Given the description of an element on the screen output the (x, y) to click on. 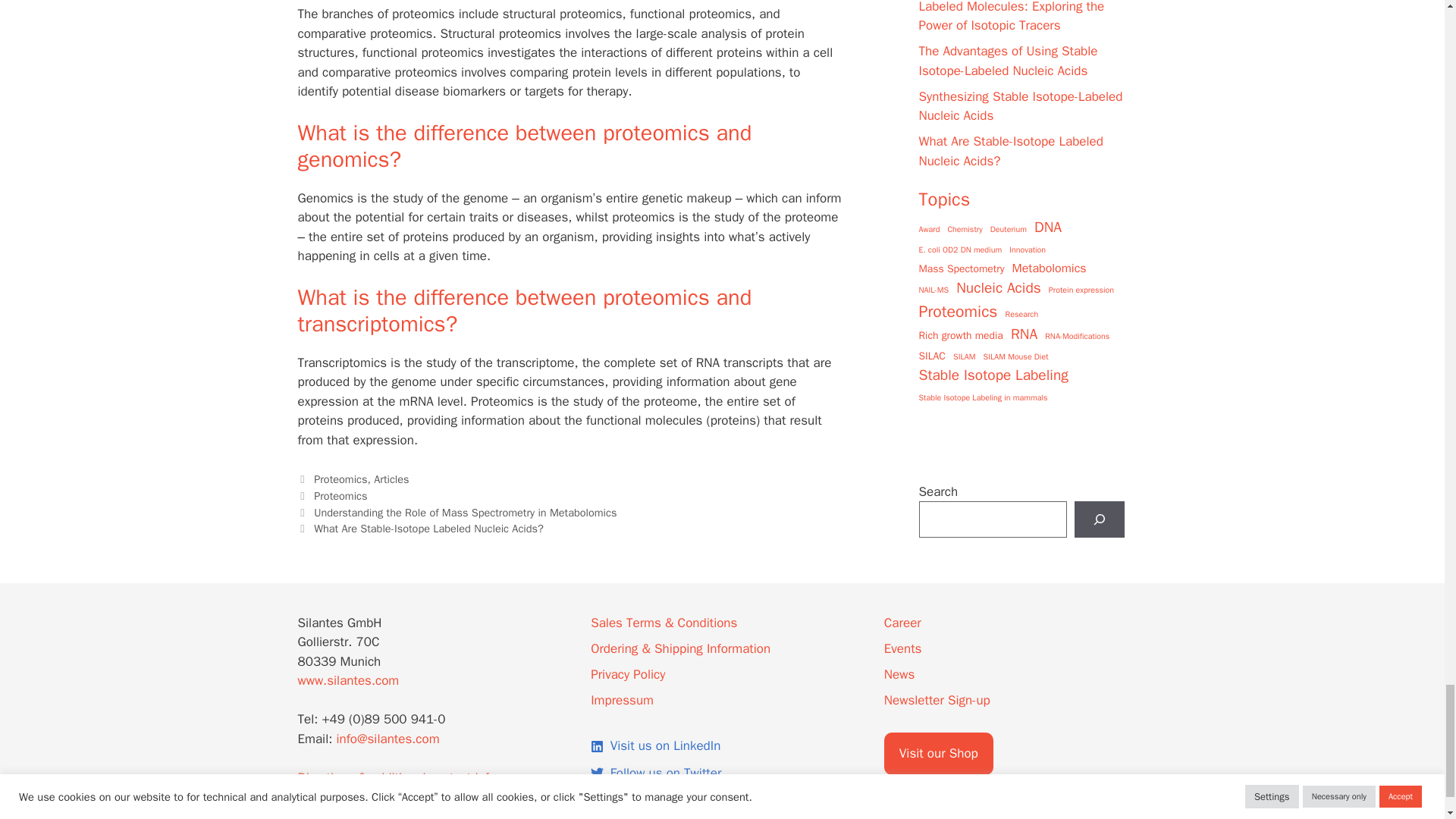
Articles (391, 479)
Understanding the Role of Mass Spectrometry in Metabolomics (464, 512)
What Are Stable-Isotope Labeled Nucleic Acids? (428, 528)
Proteomics (340, 495)
Proteomics (340, 479)
